Given the description of an element on the screen output the (x, y) to click on. 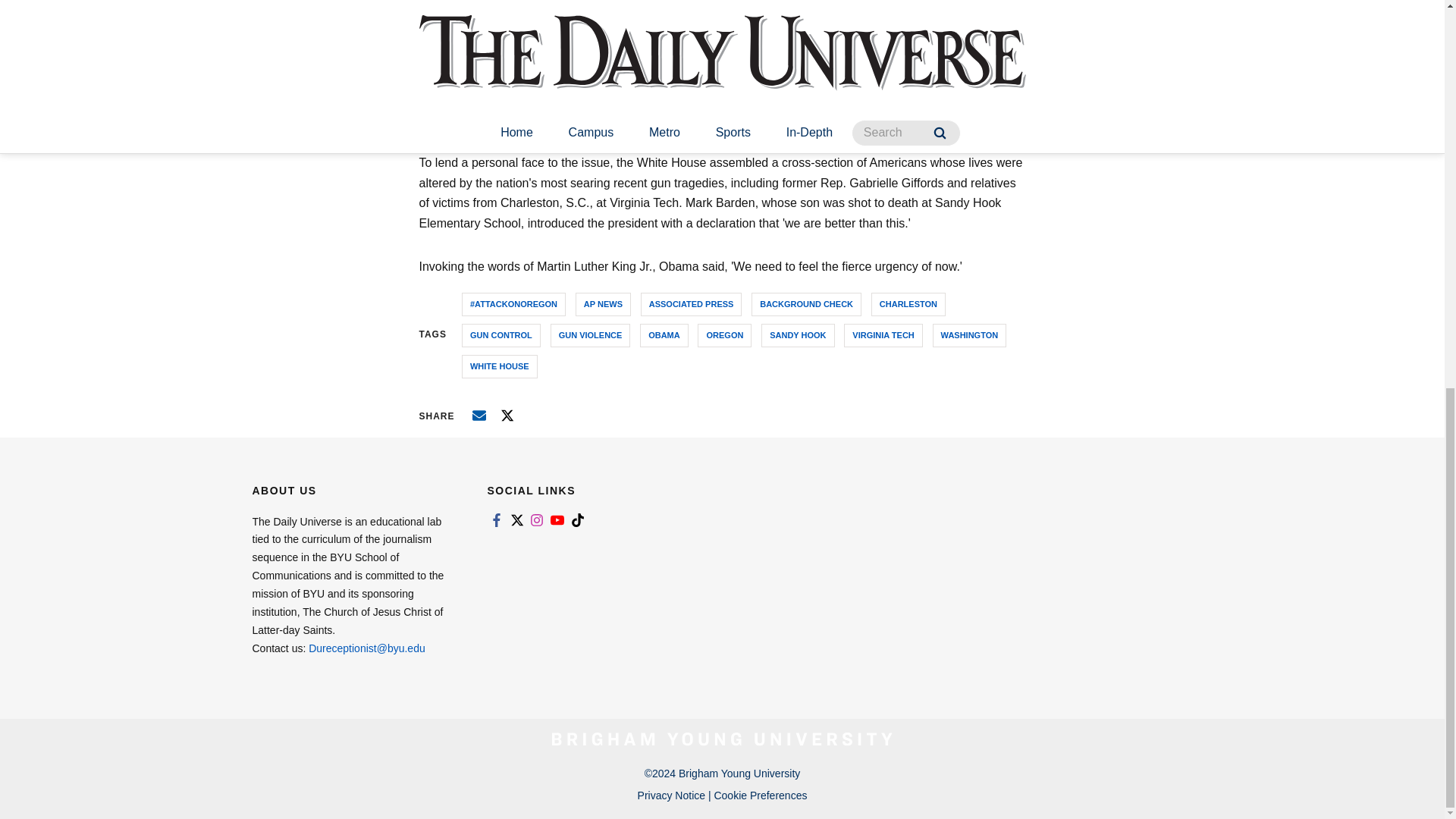
Email (478, 414)
Link to facebook (495, 520)
Link to twitter (515, 520)
Link to tiktok (577, 520)
OREGON (724, 335)
SANDY HOOK (797, 335)
GUN CONTROL (500, 335)
WHITE HOUSE (499, 366)
BACKGROUND CHECK (806, 304)
Cookie Preferences (759, 795)
